Given the description of an element on the screen output the (x, y) to click on. 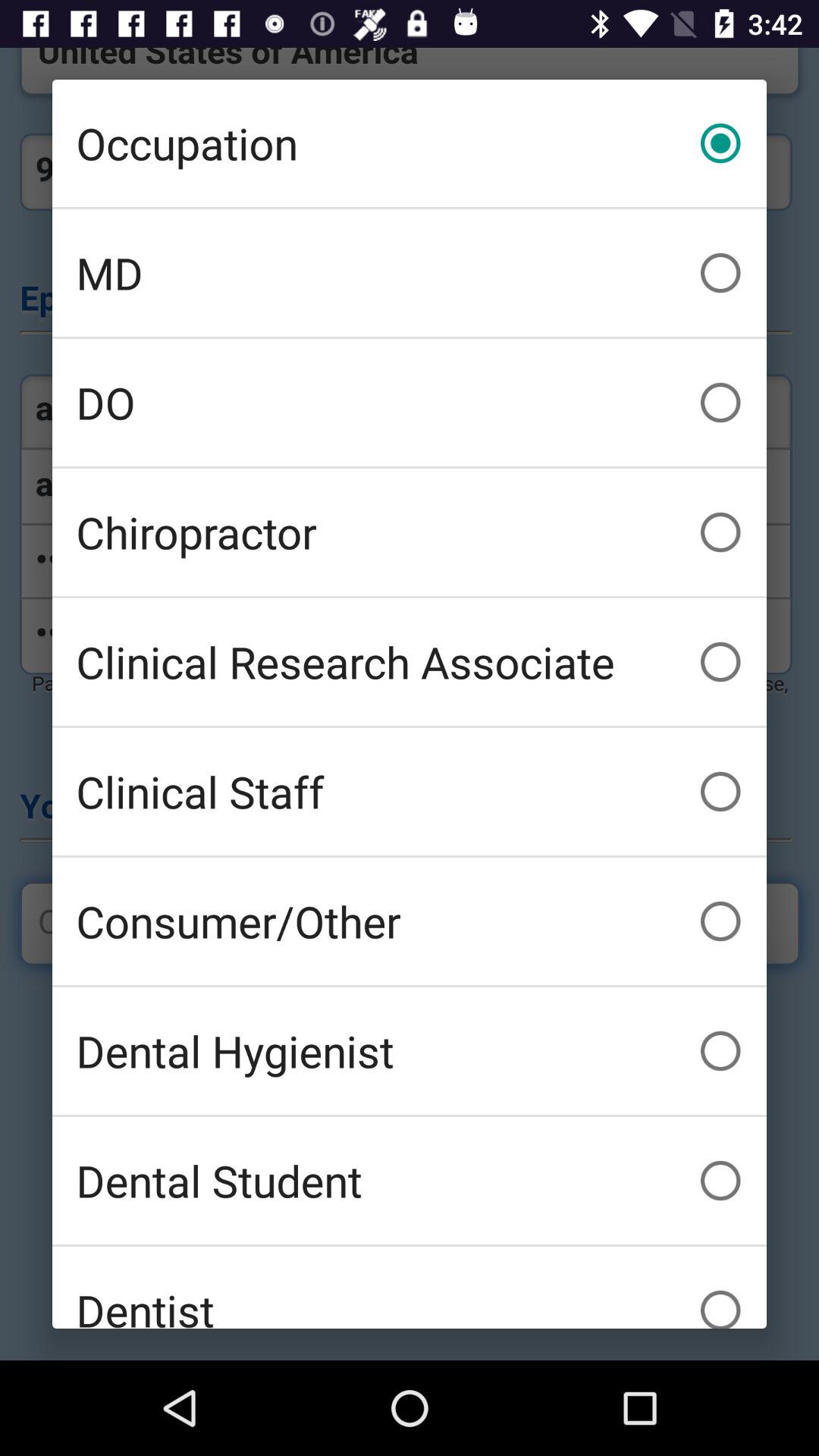
turn on item above the do item (409, 272)
